Given the description of an element on the screen output the (x, y) to click on. 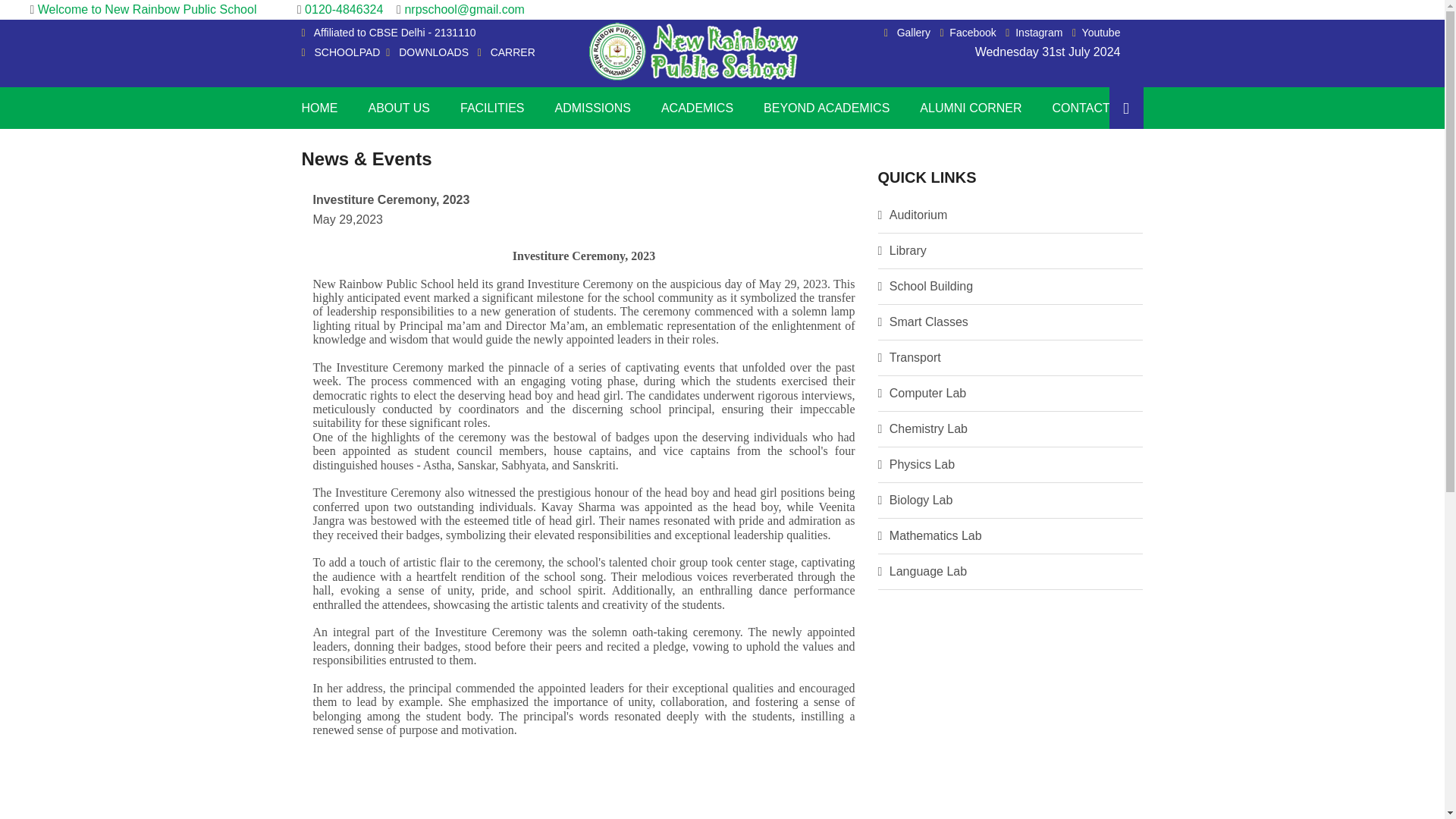
DOWNLOADS (433, 51)
  Instagram (1034, 32)
  Gallery (906, 32)
ABOUT US (399, 107)
Affiliated to CBSE Delhi - 2131110 (395, 32)
SCHOOLPAD (347, 51)
  Facebook (967, 32)
0120-4846324    (348, 9)
  Youtube (1096, 32)
FACILITIES (492, 107)
ADMISSIONS (592, 107)
Wednesday 31st July 2024 (1048, 51)
Welcome to New Rainbow Public School (146, 9)
CARRER (512, 51)
